Given the description of an element on the screen output the (x, y) to click on. 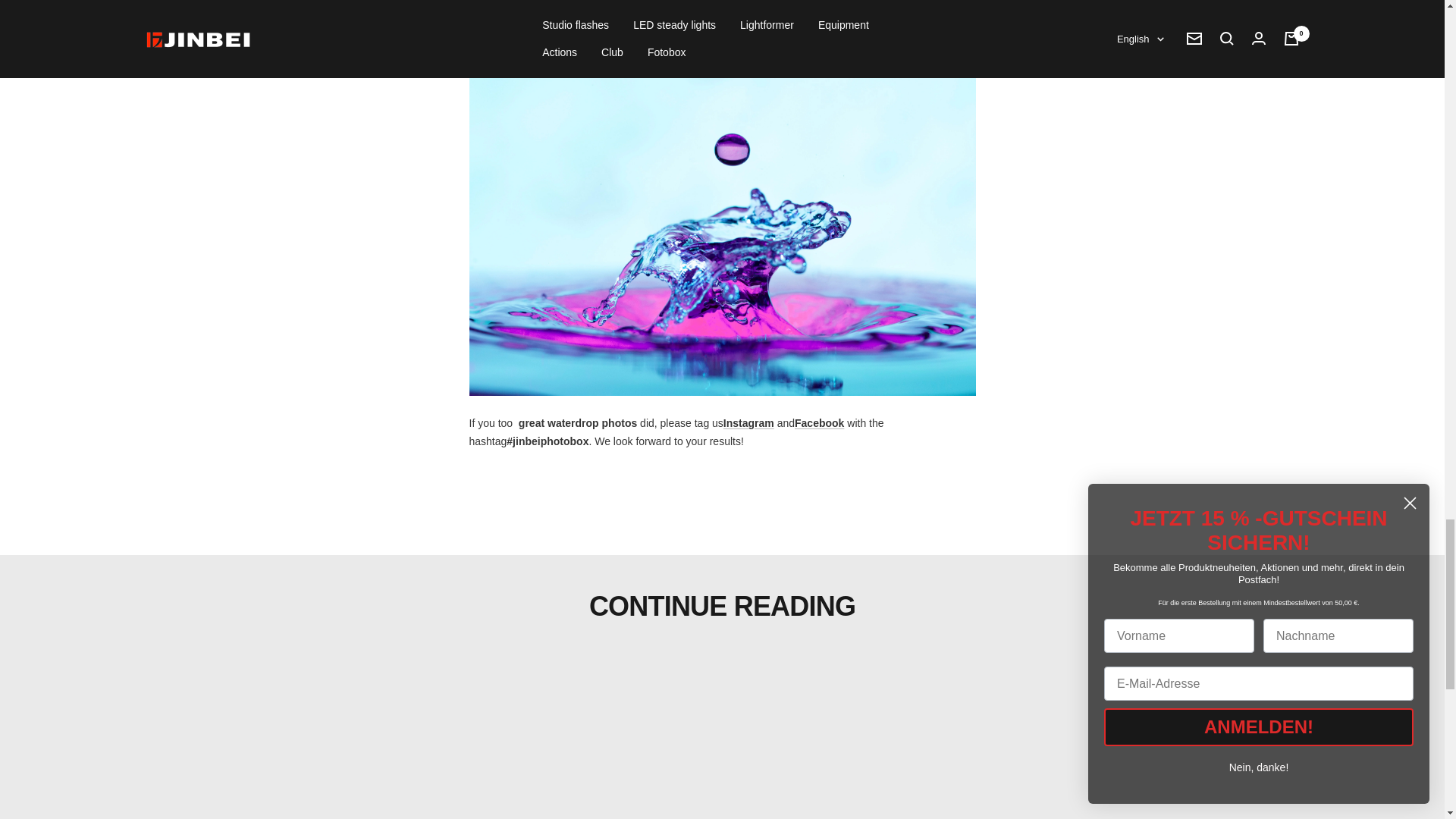
Instagram Jinbei Deutschland (748, 422)
Facebook von Jinbei (819, 422)
